Given the description of an element on the screen output the (x, y) to click on. 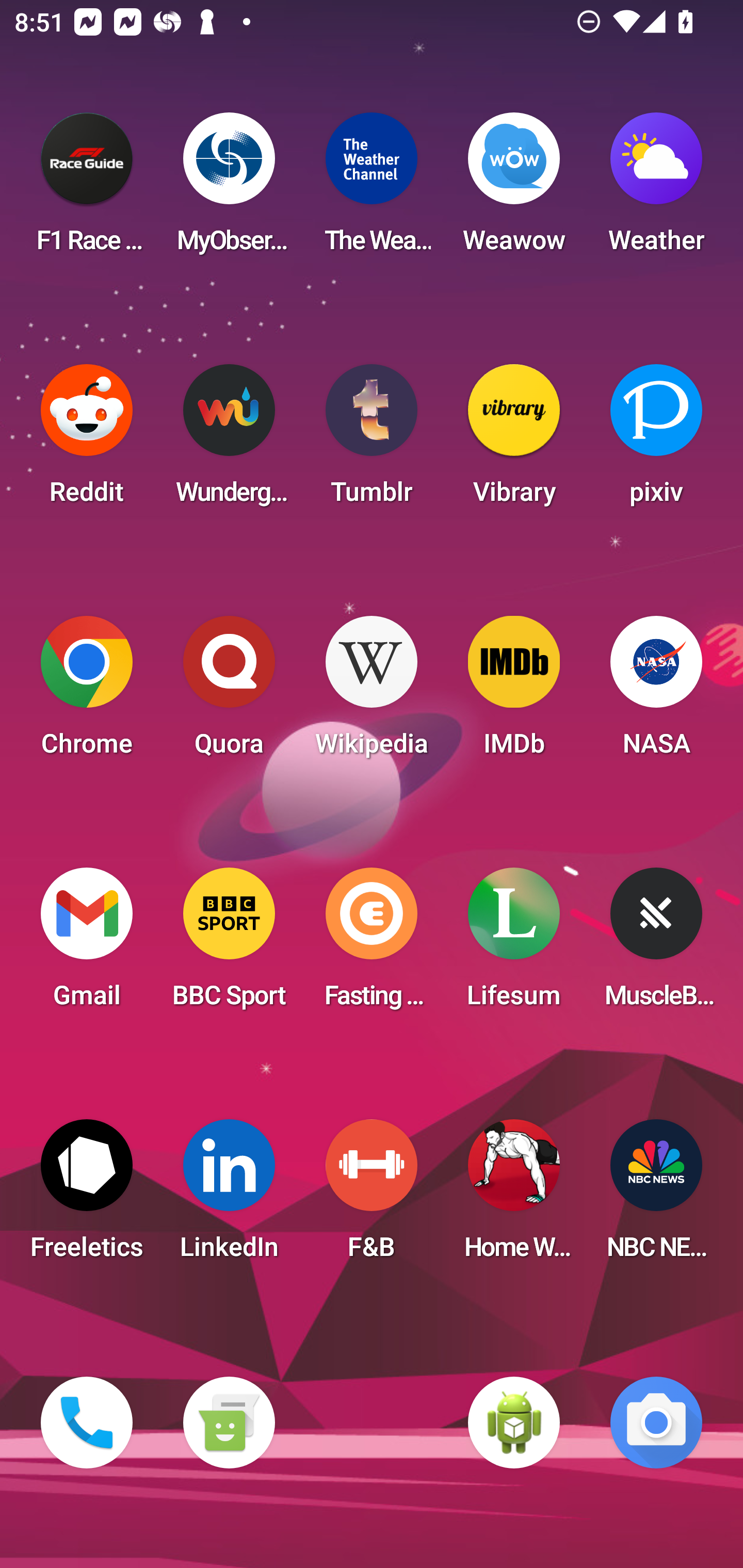
F1 Race Guide (86, 188)
MyObservatory (228, 188)
The Weather Channel (371, 188)
Weawow (513, 188)
Weather (656, 188)
Reddit (86, 440)
Wunderground (228, 440)
Tumblr (371, 440)
Vibrary (513, 440)
pixiv (656, 440)
Chrome (86, 692)
Quora (228, 692)
Wikipedia (371, 692)
IMDb (513, 692)
NASA (656, 692)
Gmail (86, 943)
BBC Sport (228, 943)
Fasting Coach (371, 943)
Lifesum (513, 943)
MuscleBooster (656, 943)
Freeletics (86, 1195)
LinkedIn (228, 1195)
F&B (371, 1195)
Home Workout (513, 1195)
NBC NEWS (656, 1195)
Phone (86, 1422)
Messaging (228, 1422)
WebView Browser Tester (513, 1422)
Camera (656, 1422)
